Given the description of an element on the screen output the (x, y) to click on. 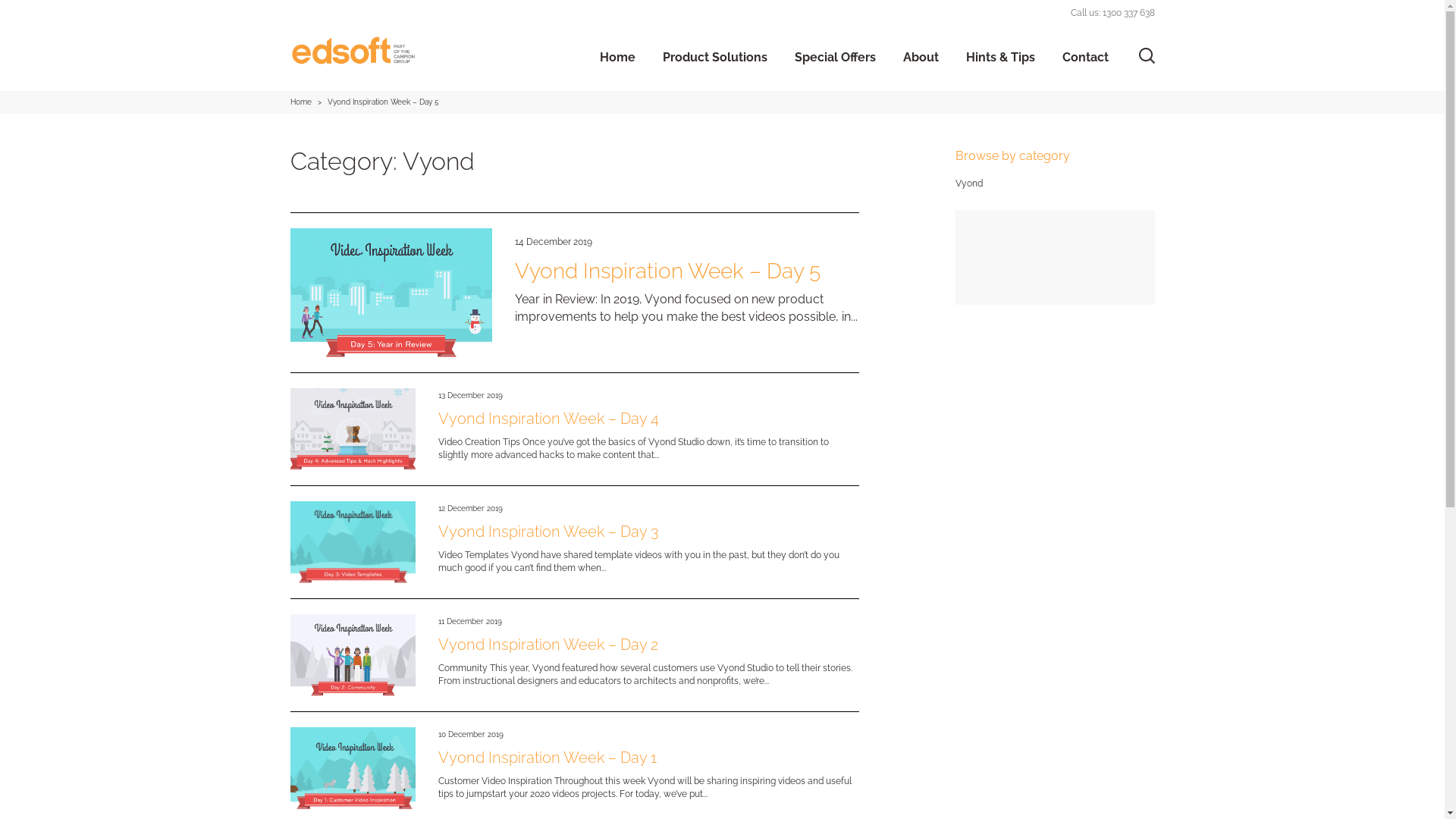
Home Element type: text (301, 101)
Hints & Tips Element type: text (1000, 57)
Special Offers Element type: text (834, 57)
Product Solutions Element type: text (714, 57)
Vyond Element type: text (968, 183)
Call us: 1300 337 638 Element type: text (1112, 12)
Home Element type: text (616, 57)
About Element type: text (920, 57)
Contact Element type: text (1084, 57)
